Given the description of an element on the screen output the (x, y) to click on. 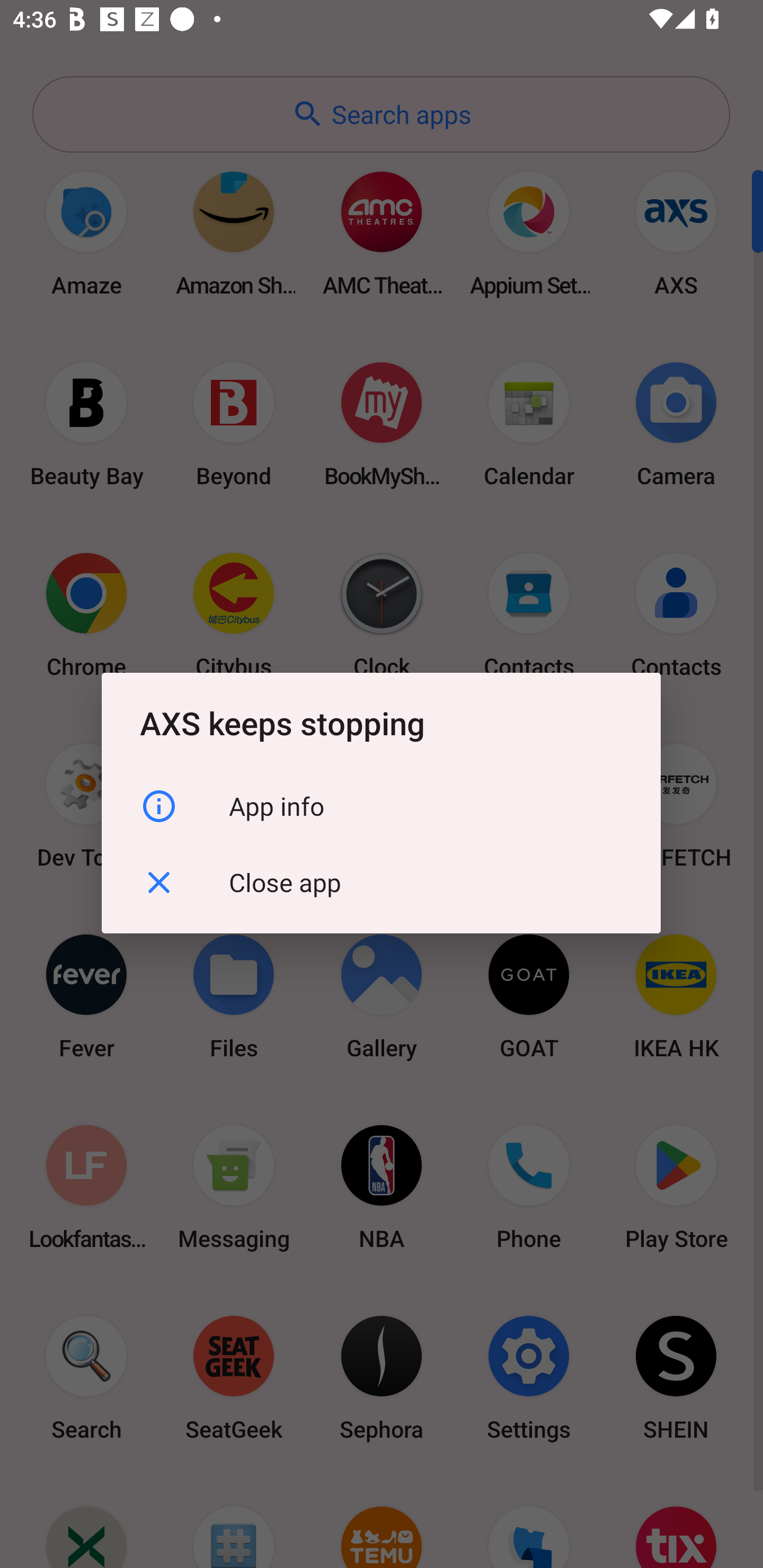
App info (380, 806)
Close app (380, 882)
